Given the description of an element on the screen output the (x, y) to click on. 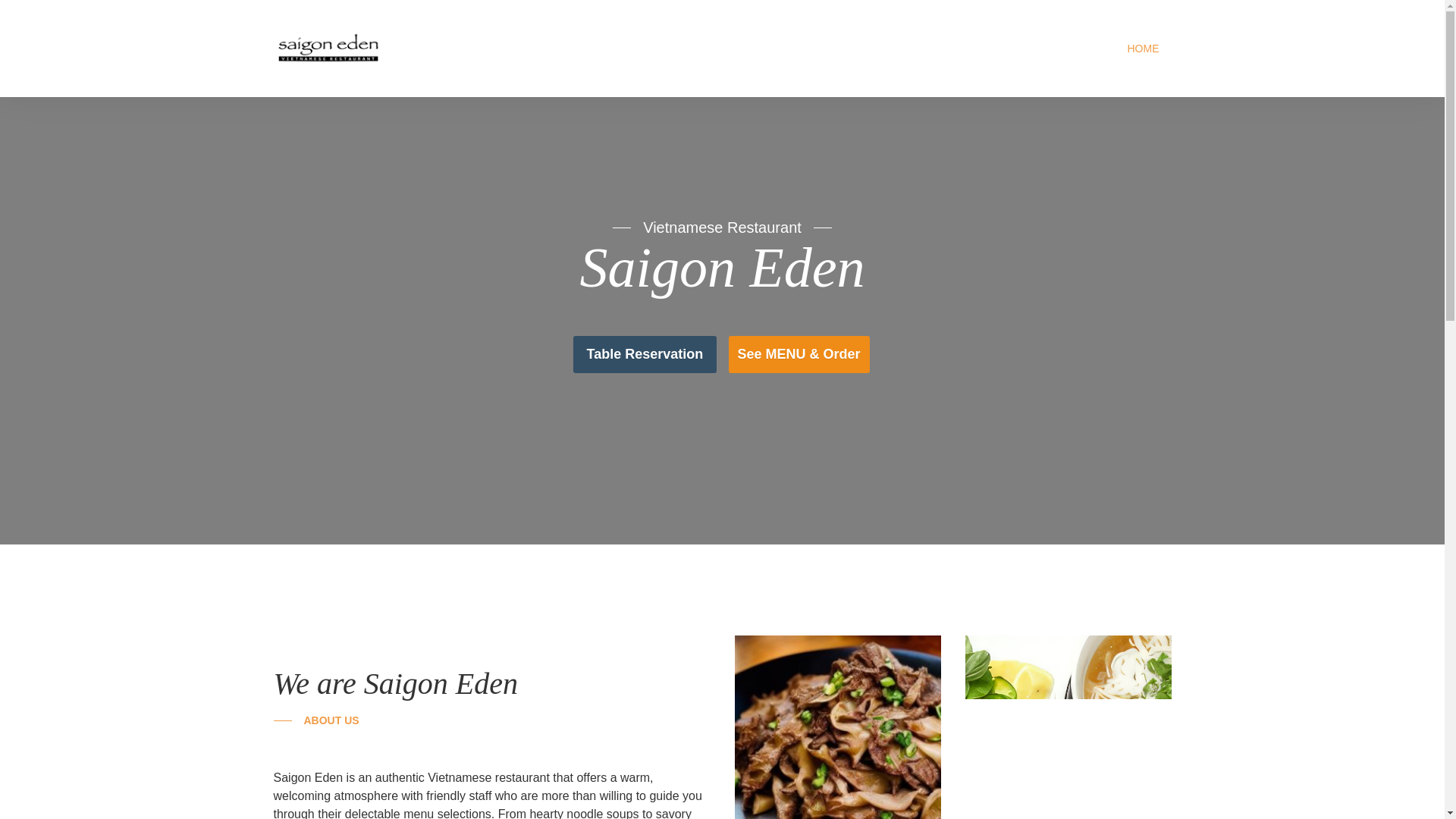
HOME (1142, 49)
